Given the description of an element on the screen output the (x, y) to click on. 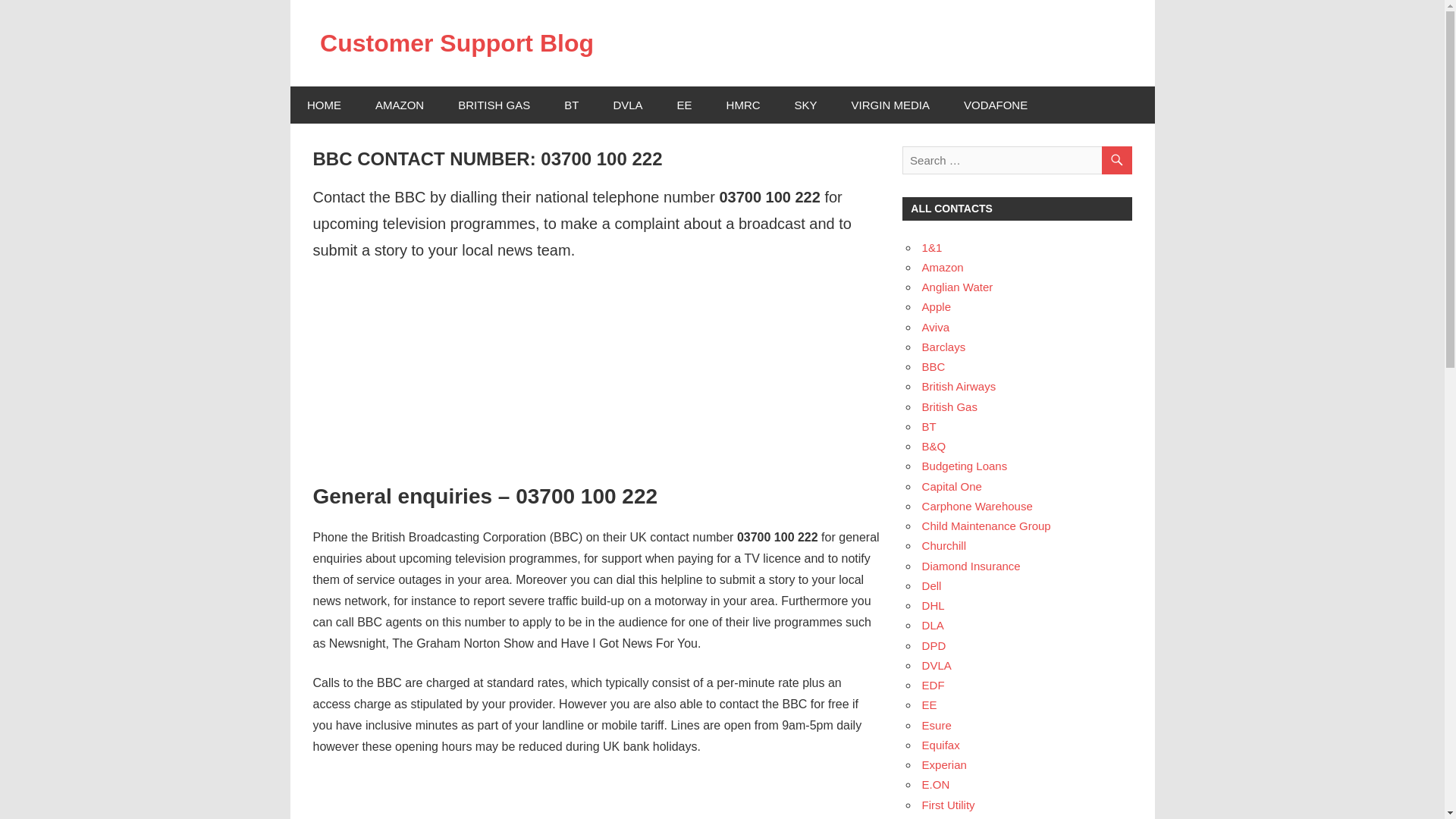
Search for: (1016, 160)
VODAFONE (994, 104)
BBC (932, 366)
EE (684, 104)
Child Maintenance Group (986, 525)
BT (928, 426)
Carphone Warehouse (976, 505)
Esure (936, 725)
Apple (935, 306)
Advertisement (596, 352)
EDF (932, 684)
AMAZON (399, 104)
HMRC (743, 104)
HOME (323, 104)
Diamond Insurance (970, 565)
